Given the description of an element on the screen output the (x, y) to click on. 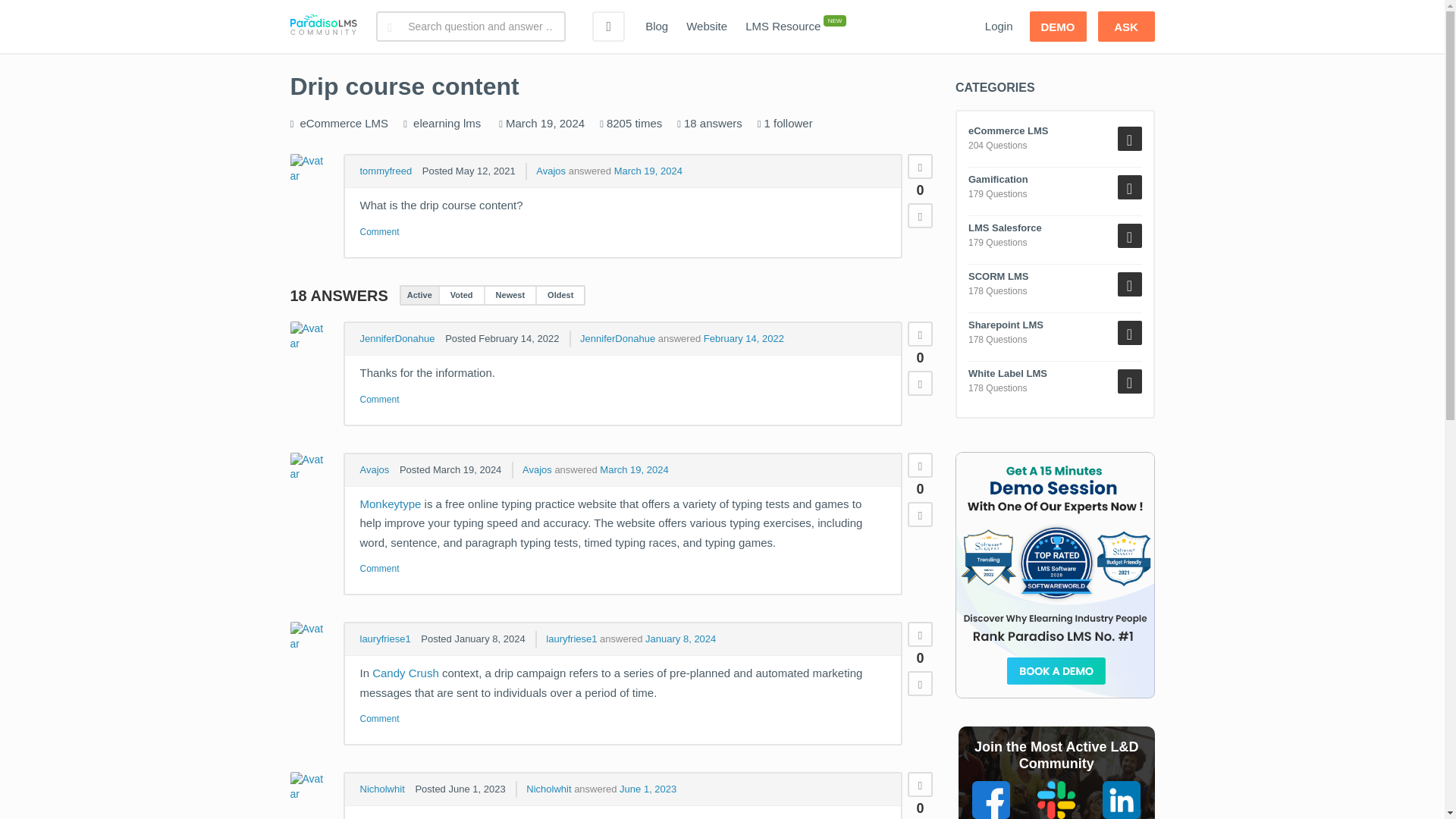
Blog (656, 26)
Up vote this post (920, 333)
Website (706, 26)
eCommerce LMS (343, 123)
Search for: (470, 26)
Avajos (550, 170)
Comments (378, 231)
Website (706, 26)
Login (998, 26)
Down vote this post (920, 215)
